Given the description of an element on the screen output the (x, y) to click on. 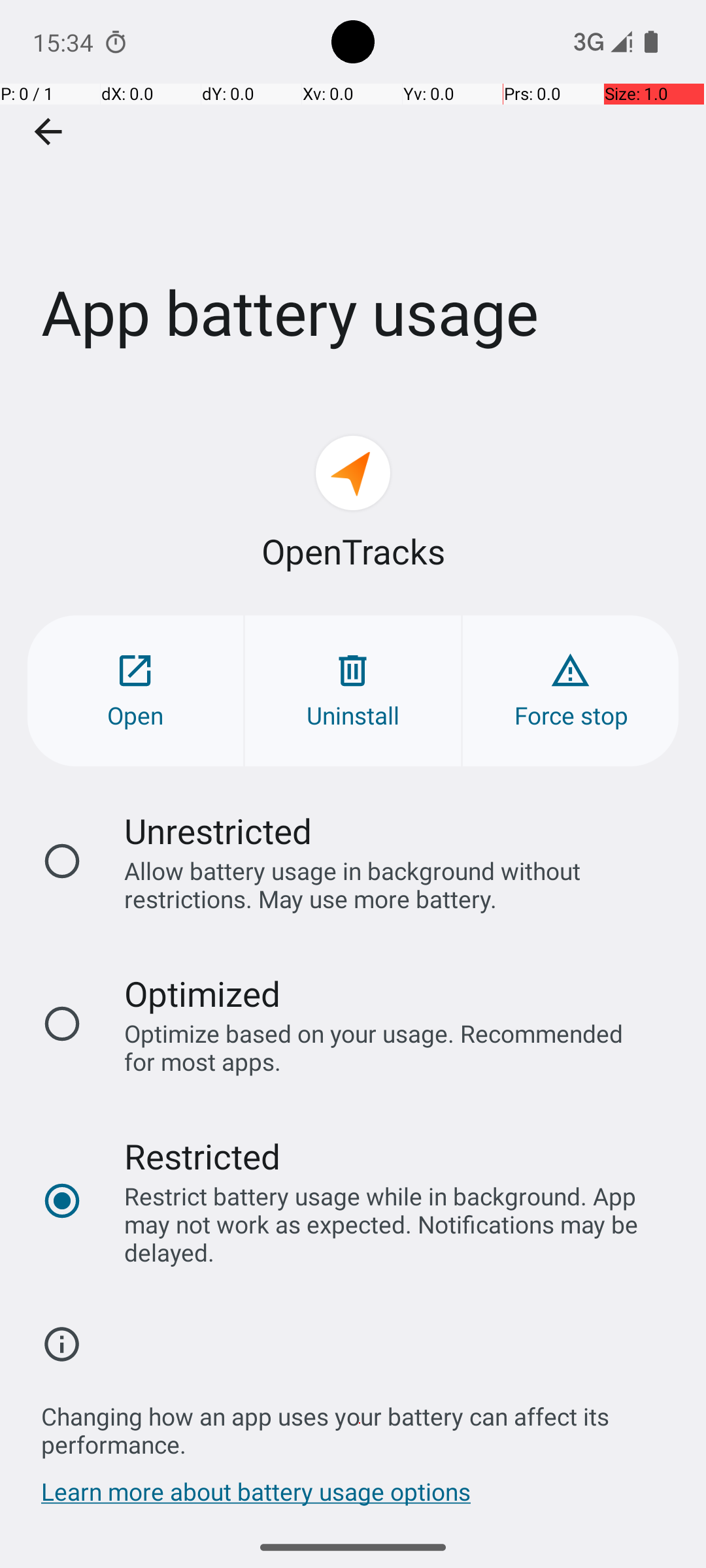
Unrestricted Element type: android.widget.TextView (217, 830)
Allow battery usage in background without restrictions. May use more battery. Element type: android.widget.TextView (387, 884)
Optimized Element type: android.widget.TextView (202, 993)
Optimize based on your usage. Recommended for most apps. Element type: android.widget.TextView (387, 1047)
Restricted Element type: android.widget.TextView (202, 1155)
Restrict battery usage while in background. App may not work as expected. Notifications may be delayed. Element type: android.widget.TextView (387, 1223)
Changing how an app uses your battery can affect its performance. Element type: android.widget.TextView (359, 1423)
Learn more about battery usage options Element type: android.widget.TextView (255, 1497)
